Given the description of an element on the screen output the (x, y) to click on. 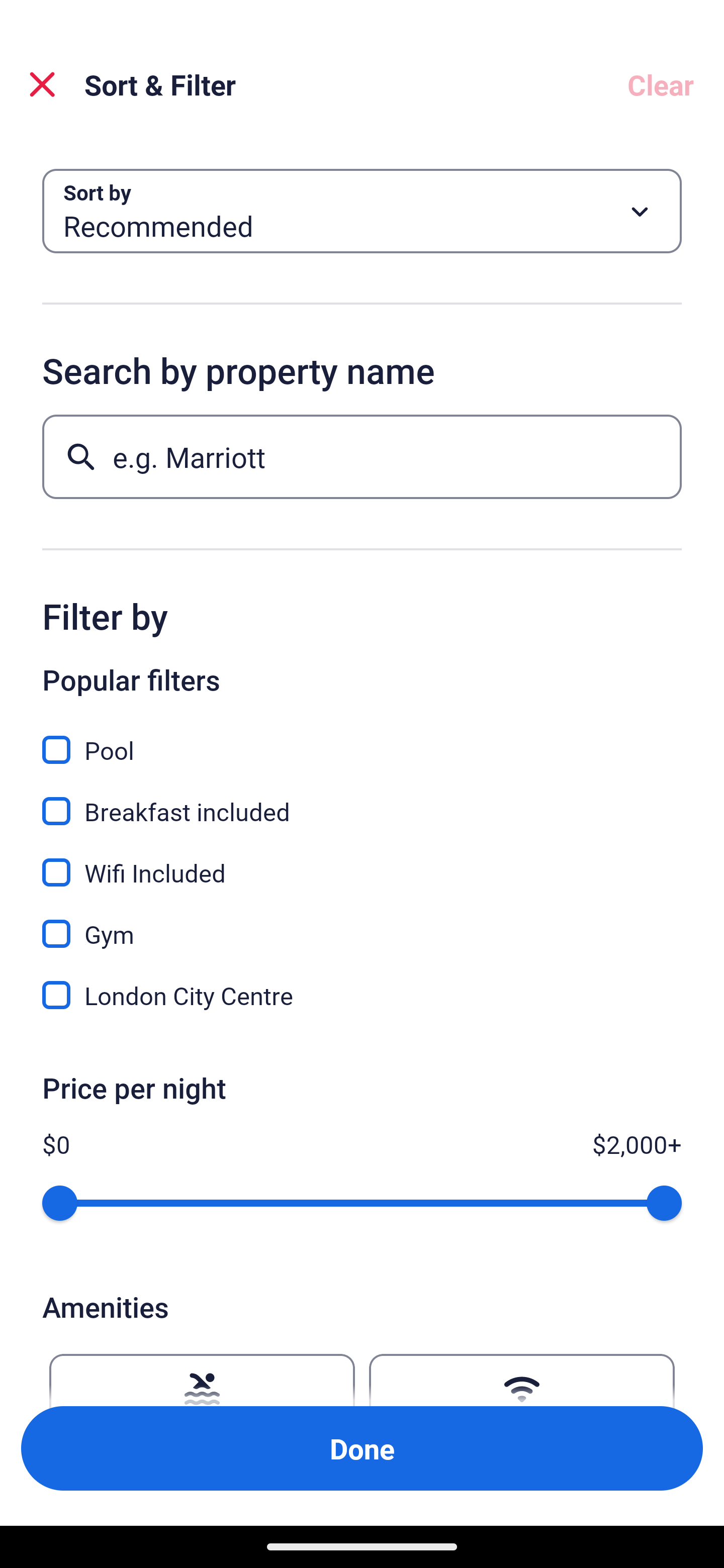
Close Sort and Filter (42, 84)
Clear (660, 84)
Sort by Button Recommended (361, 211)
e.g. Marriott Button (361, 455)
Pool, Pool (361, 738)
Breakfast included, Breakfast included (361, 800)
Wifi Included, Wifi Included (361, 861)
Gym, Gym (361, 922)
London City Centre, London City Centre (361, 995)
Apply and close Sort and Filter Done (361, 1448)
